Given the description of an element on the screen output the (x, y) to click on. 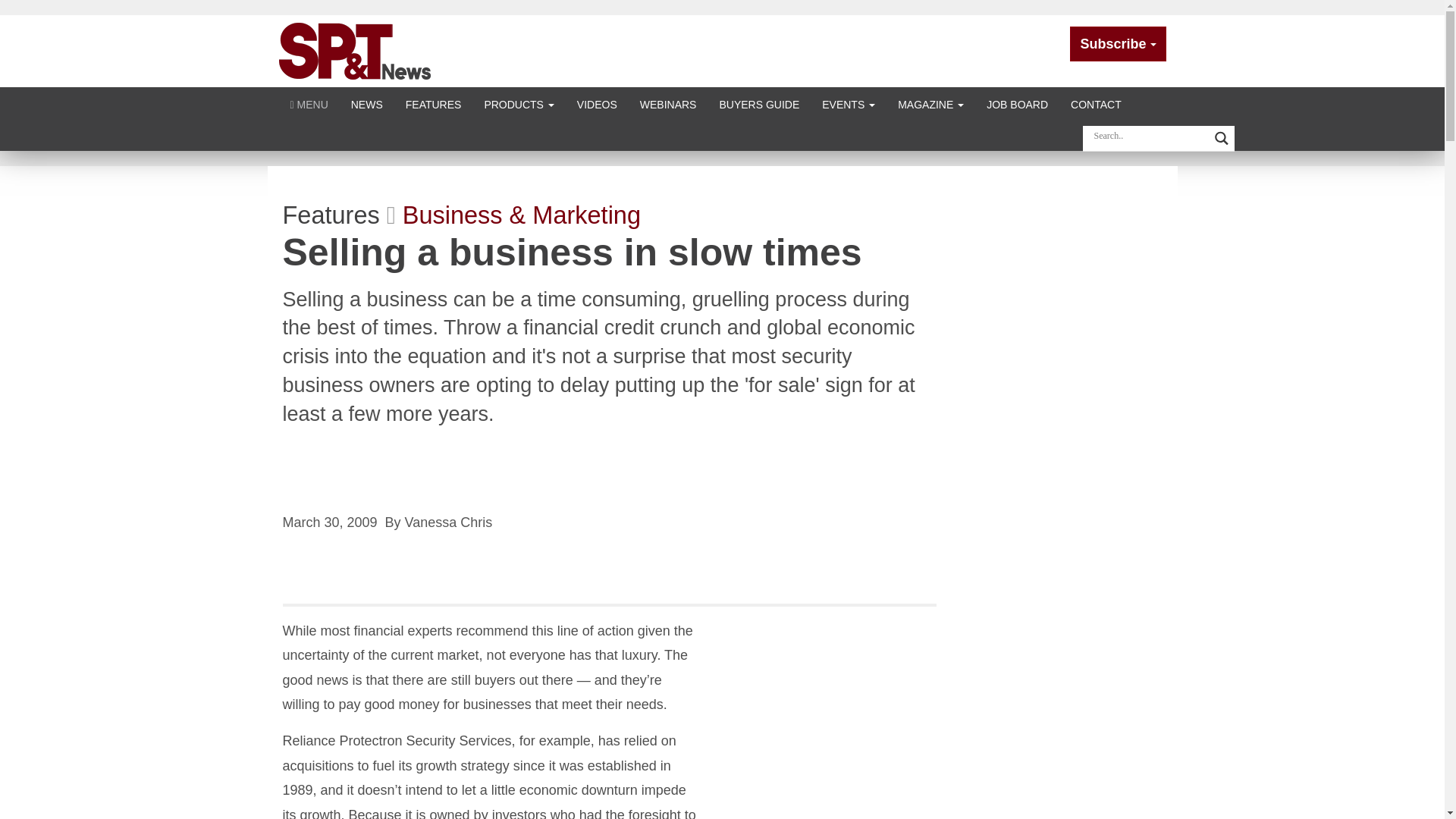
WEBINARS (667, 103)
MENU (309, 103)
NEWS (366, 103)
PRODUCTS (517, 103)
Subscribe (1118, 43)
MAGAZINE (930, 103)
BUYERS GUIDE (758, 103)
EVENTS (848, 103)
CONTACT (1095, 103)
JOB BOARD (1017, 103)
